Given the description of an element on the screen output the (x, y) to click on. 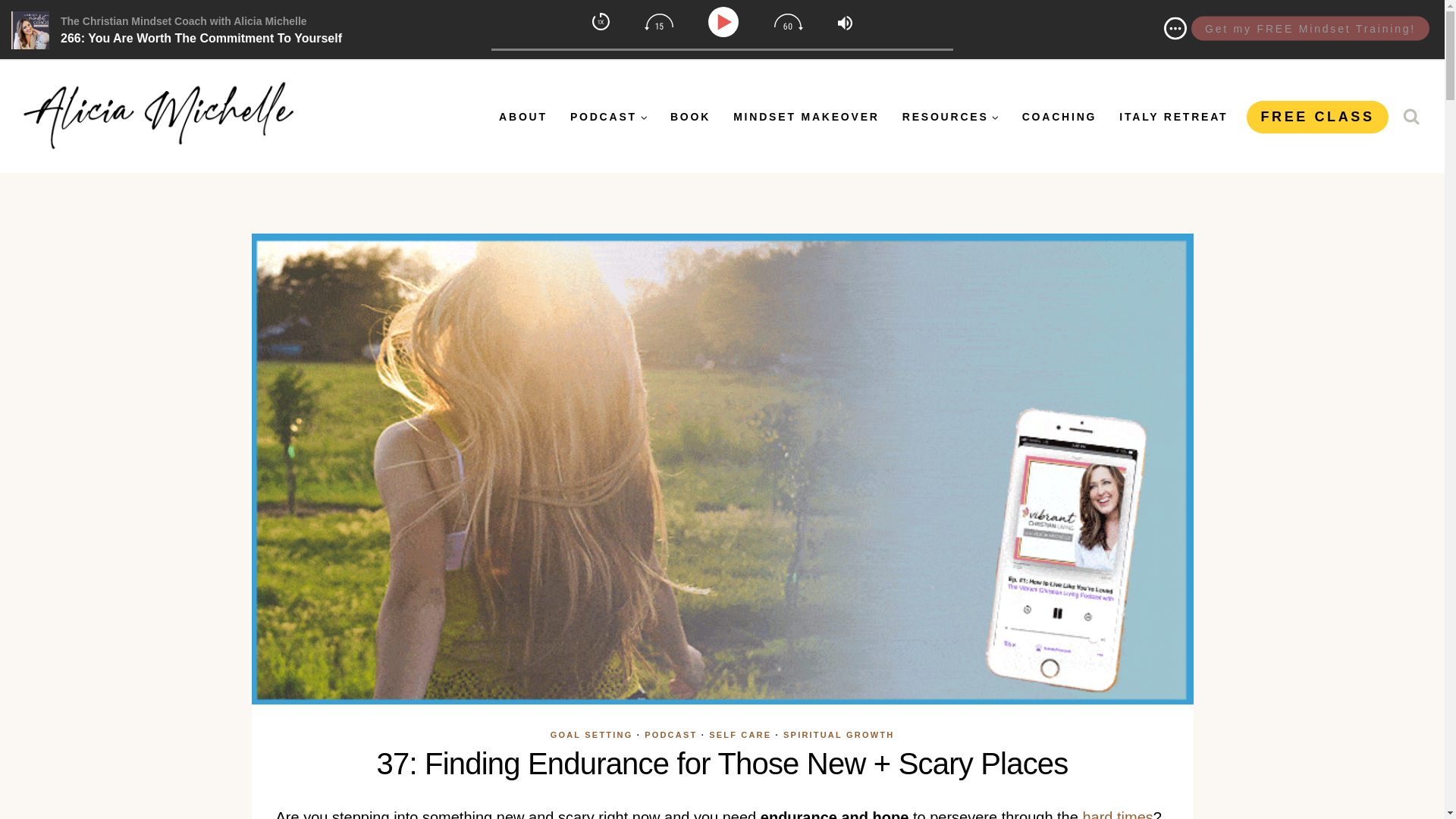
Speed: Normal (601, 21)
GOAL SETTING (591, 734)
SELF CARE (740, 734)
MINDSET MAKEOVER (806, 116)
More (1174, 27)
hard times (1117, 814)
FREE CLASS (1316, 116)
SPIRITUAL GROWTH (838, 734)
RESOURCES (950, 116)
ITALY RETREAT (1173, 116)
PODCAST (609, 116)
PODCAST (671, 734)
